Given the description of an element on the screen output the (x, y) to click on. 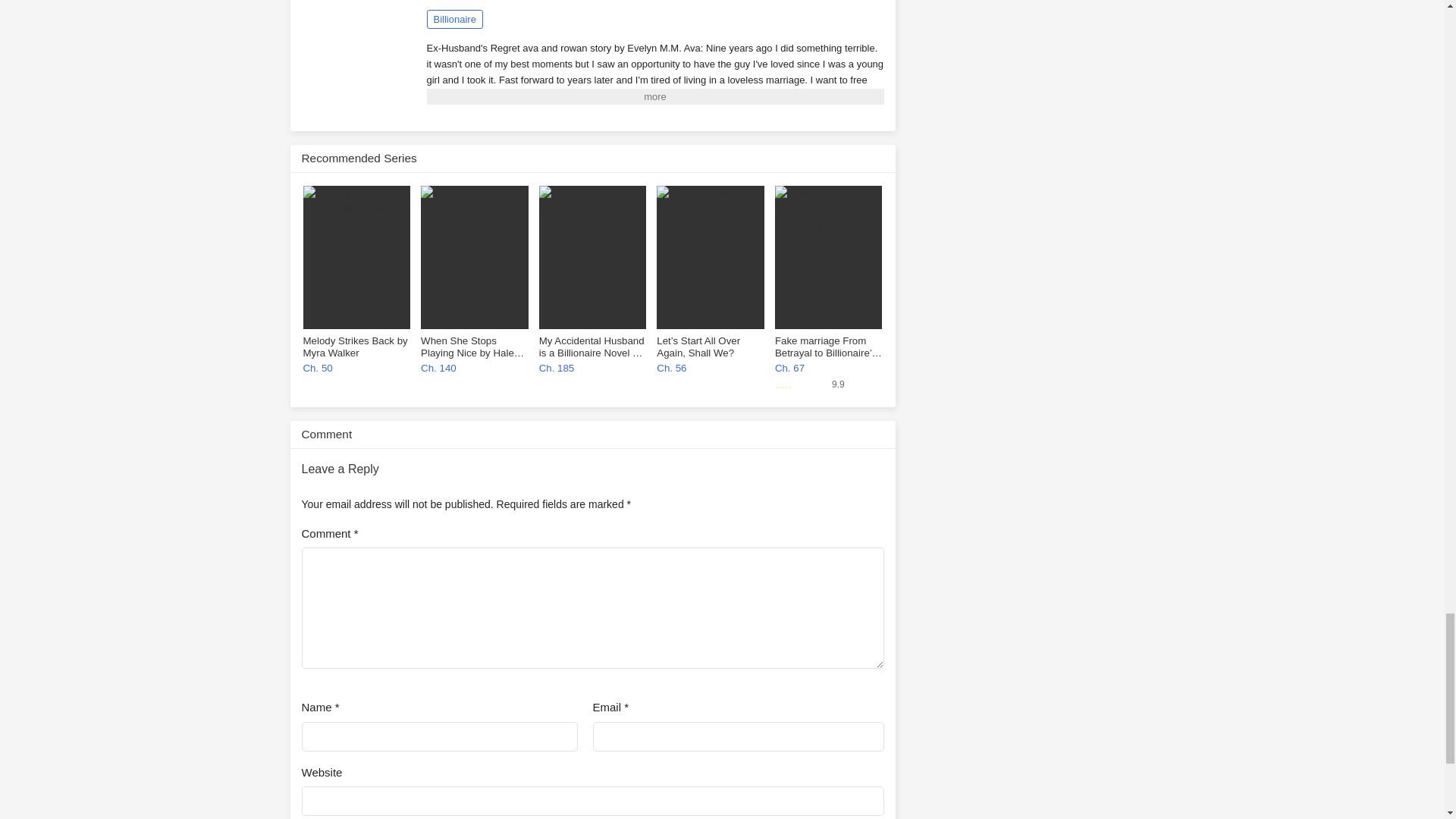
Billionaire (453, 18)
